Given the description of an element on the screen output the (x, y) to click on. 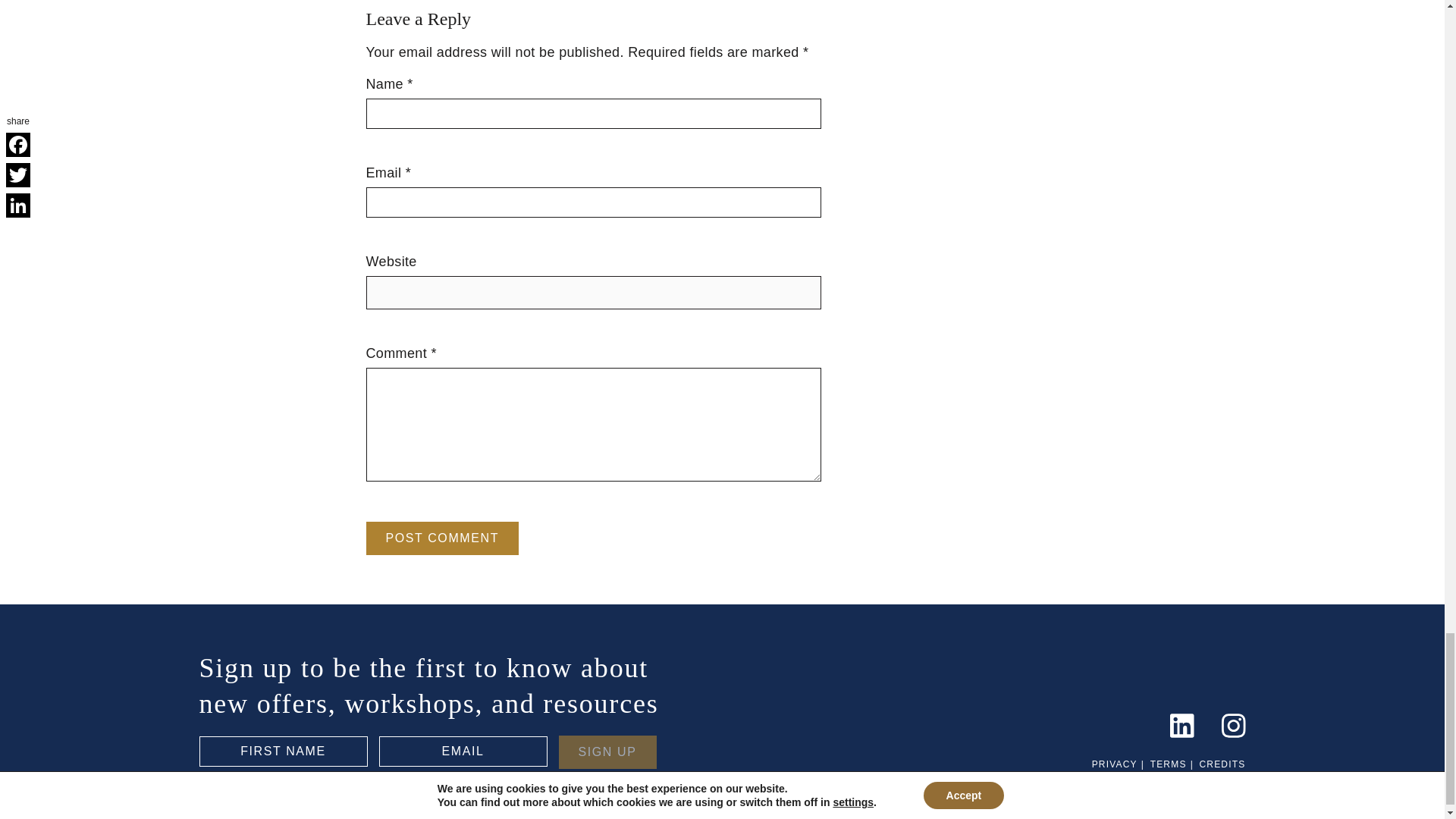
Sign Up (606, 752)
Post Comment (441, 538)
Sign Up (606, 752)
TERMS (1168, 764)
Post Comment (441, 538)
PRIVACY (1114, 764)
